Given the description of an element on the screen output the (x, y) to click on. 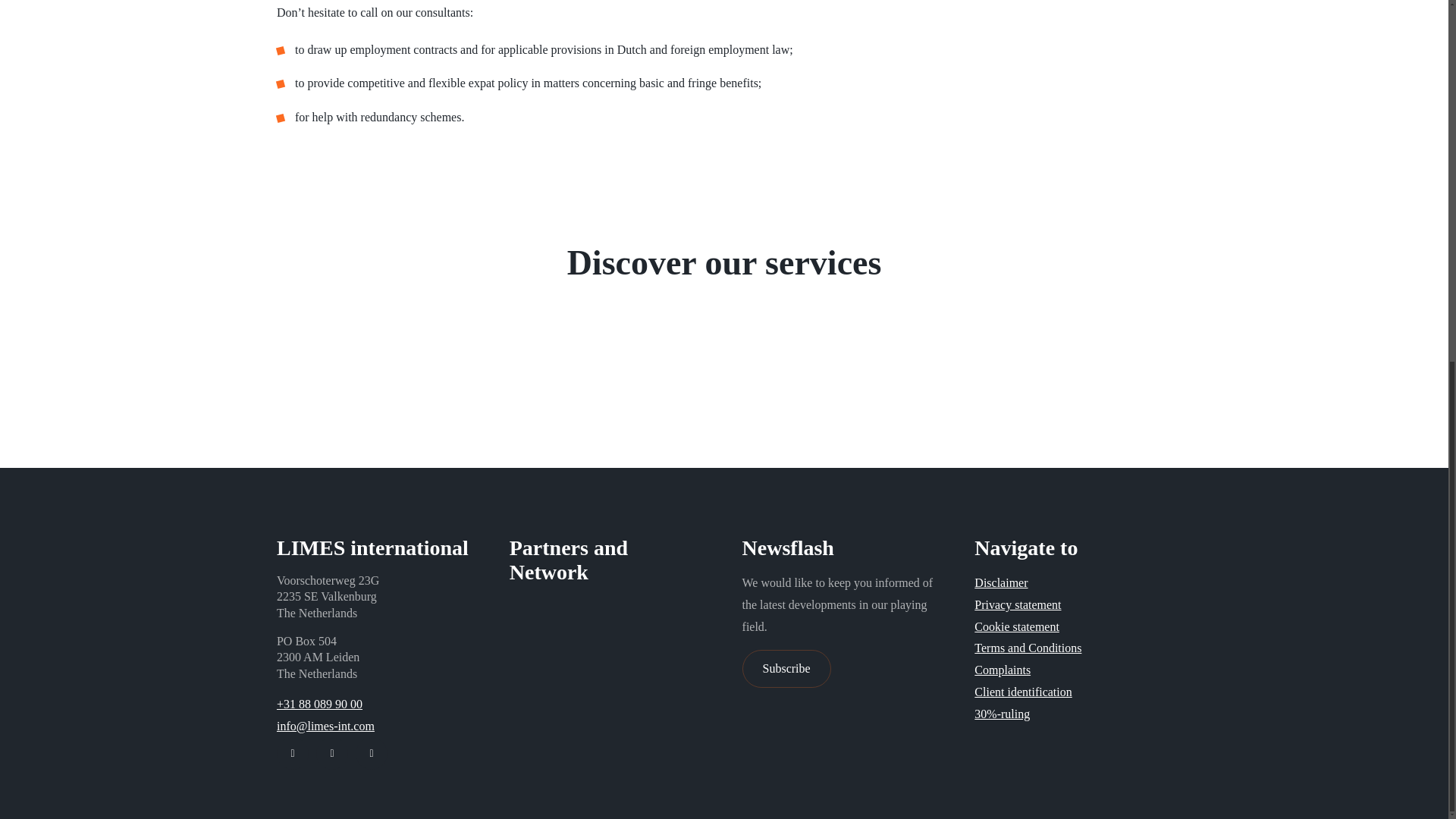
LinkedIn (292, 753)
Facebook (331, 753)
Email (371, 753)
